Given the description of an element on the screen output the (x, y) to click on. 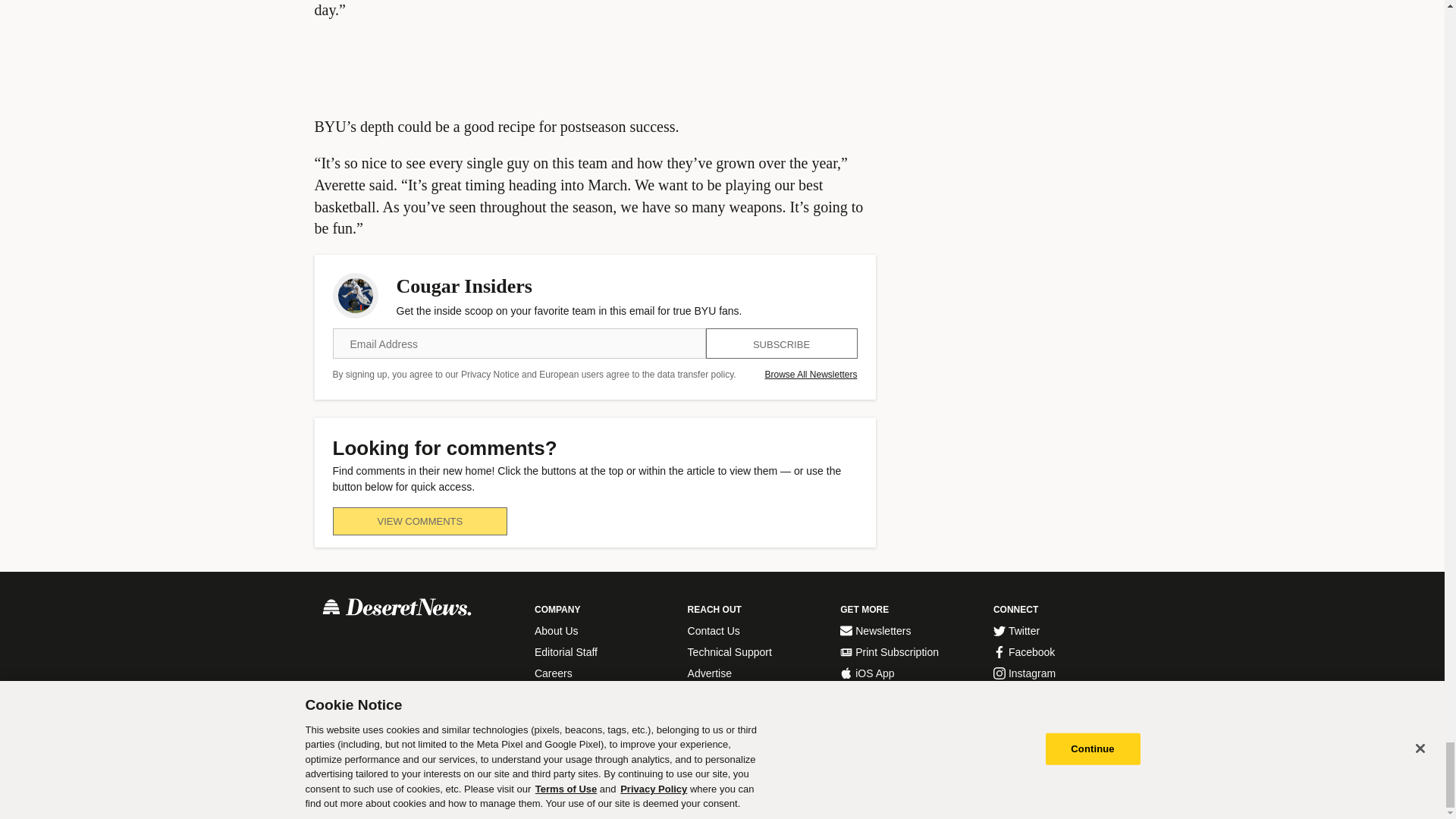
SUBSCRIBE (780, 343)
